Given the description of an element on the screen output the (x, y) to click on. 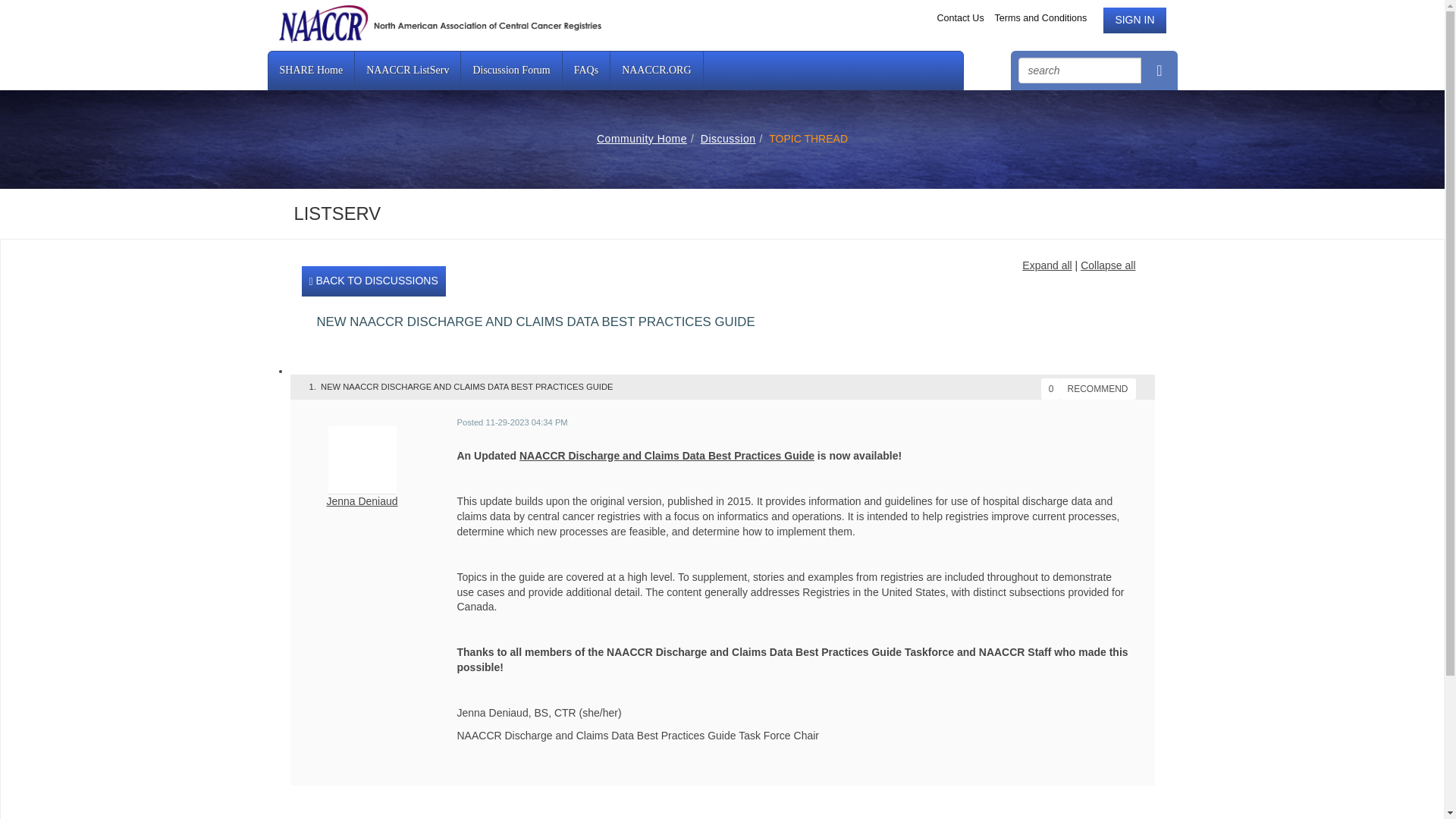
Topic Thread (807, 138)
NAACCR Discharge and Claims Data Best Practices Guide (666, 455)
How to get in contact with us (962, 18)
Jenna Deniaud (361, 500)
FAQs (586, 70)
Discussion Forum (511, 70)
Discussion (727, 138)
NAACCR ListServ (408, 70)
SHARE Home (311, 70)
SIGN IN (1134, 20)
search (1079, 70)
BACK TO DISCUSSIONS (373, 281)
Terms and Conditions (1042, 18)
Community Home (641, 138)
NAACCR.ORG (656, 70)
